Given the description of an element on the screen output the (x, y) to click on. 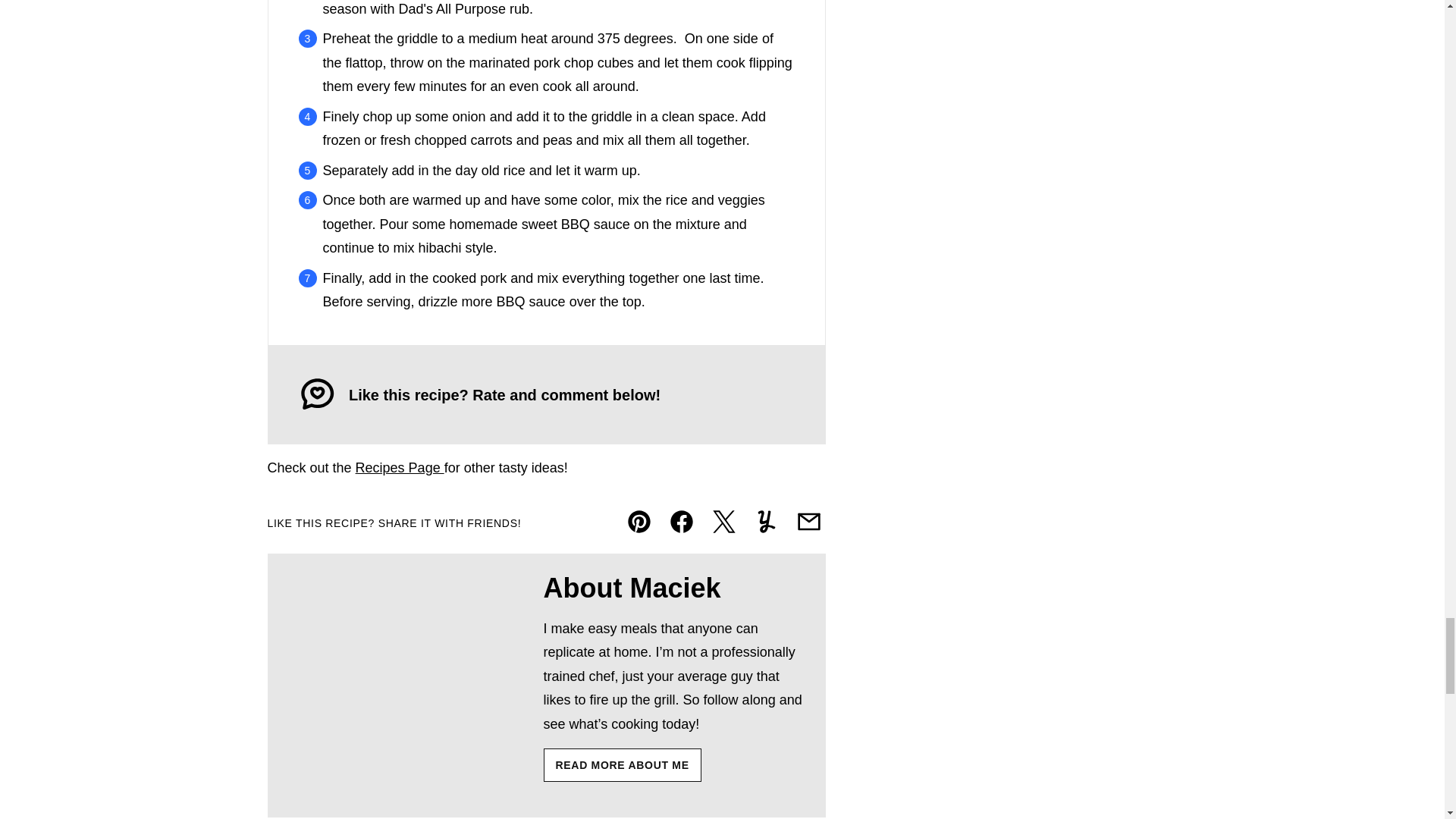
Share via Email (808, 521)
Share on Pinterest (638, 521)
Share on Yummly (766, 521)
Share on Facebook (680, 521)
Share on Twitter (722, 521)
